Given the description of an element on the screen output the (x, y) to click on. 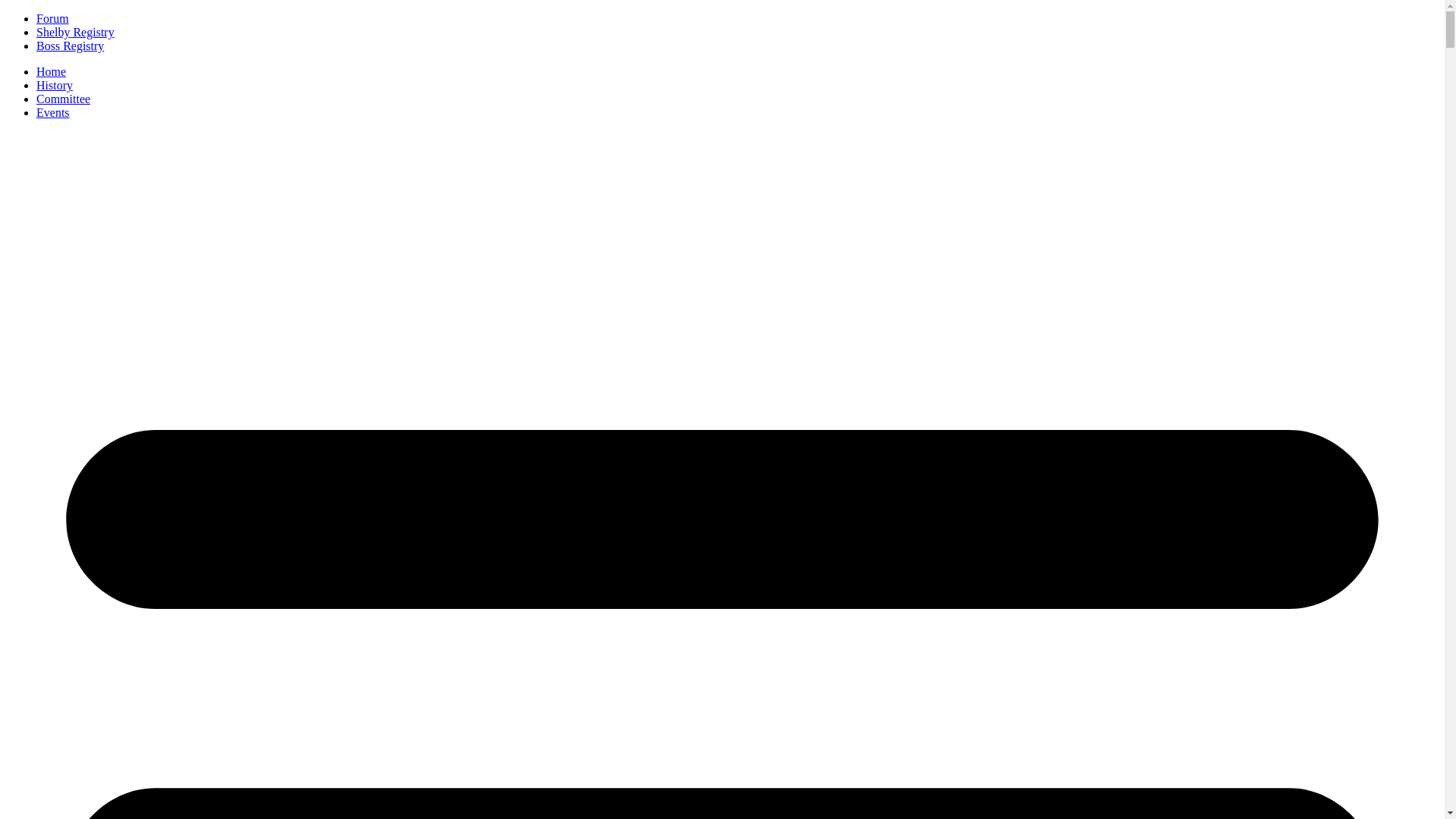
Shelby Registry Element type: text (75, 31)
History Element type: text (54, 84)
Home Element type: text (50, 71)
Events Element type: text (52, 112)
Forum Element type: text (52, 18)
Boss Registry Element type: text (69, 45)
Committee Element type: text (63, 98)
Skip to content Element type: text (5, 11)
